Given the description of an element on the screen output the (x, y) to click on. 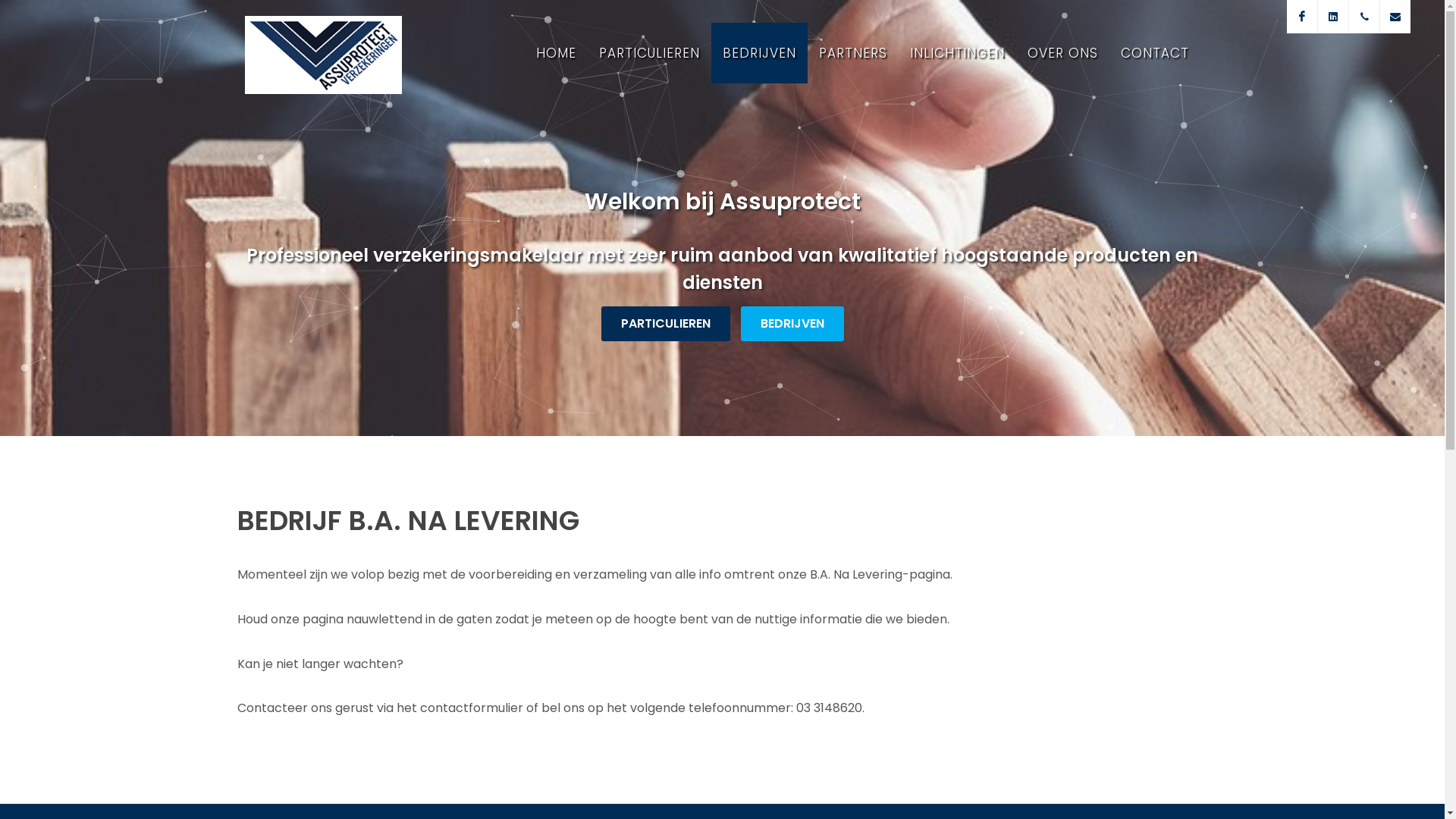
PARTICULIEREN Element type: text (664, 323)
BEDRIJVEN Element type: text (759, 52)
PARTICULIEREN Element type: text (648, 52)
OVER ONS Element type: text (1062, 52)
BEDRIJVEN Element type: text (791, 323)
PARTNERS Element type: text (851, 52)
INLICHTINGEN Element type: text (956, 52)
HOME Element type: text (555, 52)
CONTACT Element type: text (1153, 52)
